Given the description of an element on the screen output the (x, y) to click on. 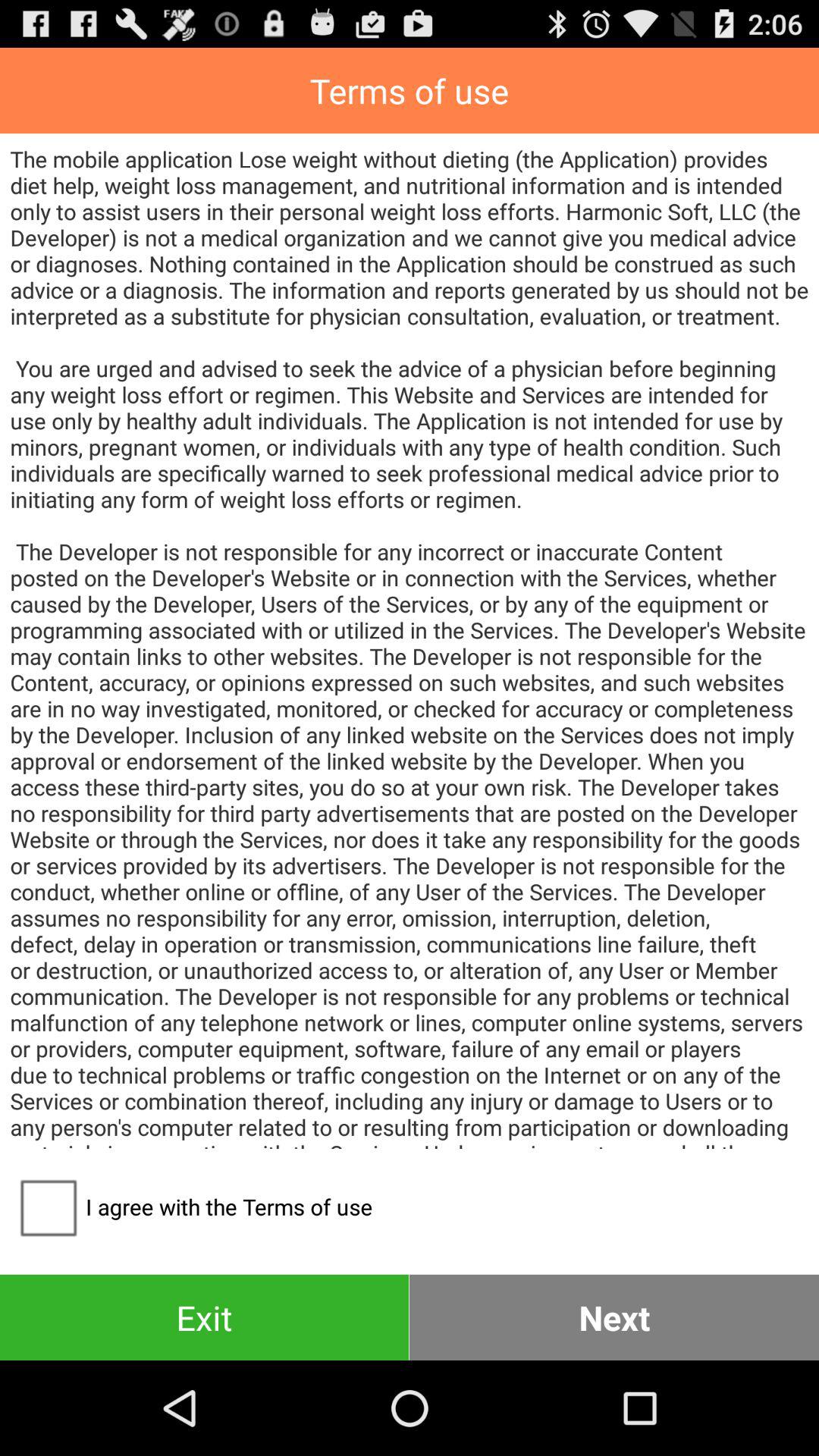
click the i agree with (191, 1206)
